Given the description of an element on the screen output the (x, y) to click on. 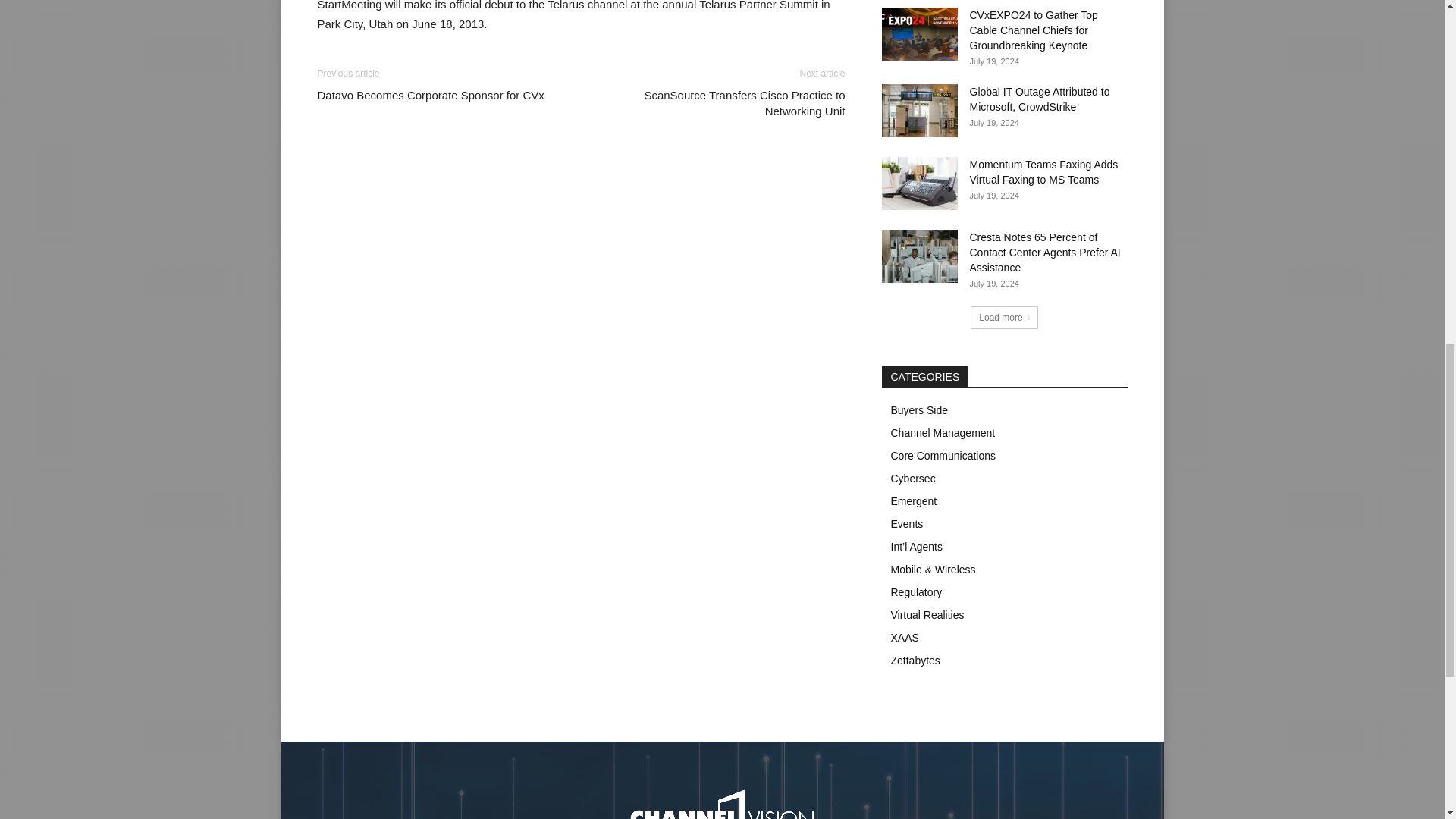
Global IT Outage Attributed to Microsoft, CrowdStrike (918, 110)
